Given the description of an element on the screen output the (x, y) to click on. 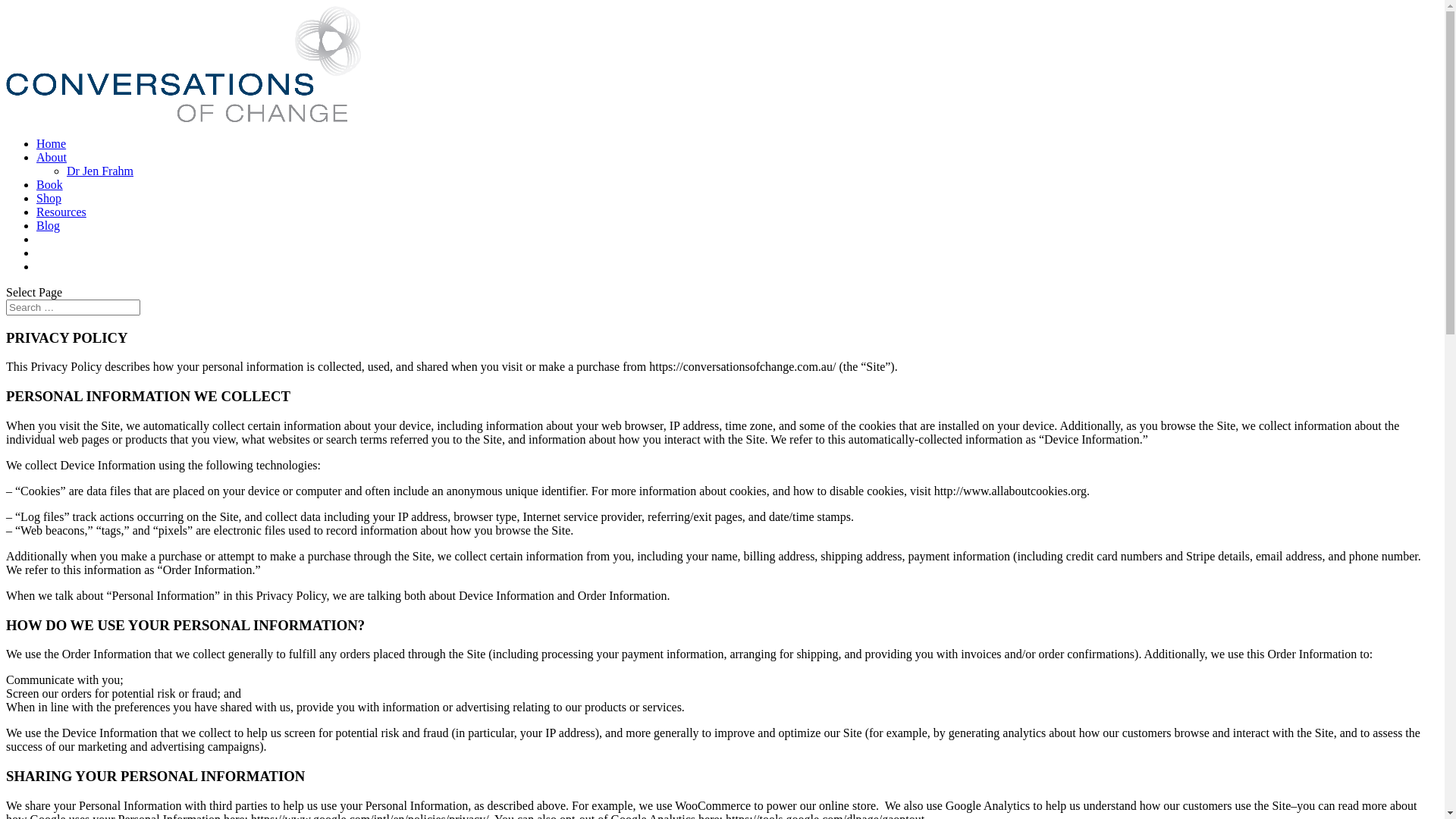
Book Element type: text (49, 184)
Shop Element type: text (48, 197)
Home Element type: text (50, 143)
Resources Element type: text (61, 211)
Dr Jen Frahm Element type: text (99, 170)
About Element type: text (51, 156)
Search for: Element type: hover (73, 307)
Blog Element type: text (47, 225)
